Given the description of an element on the screen output the (x, y) to click on. 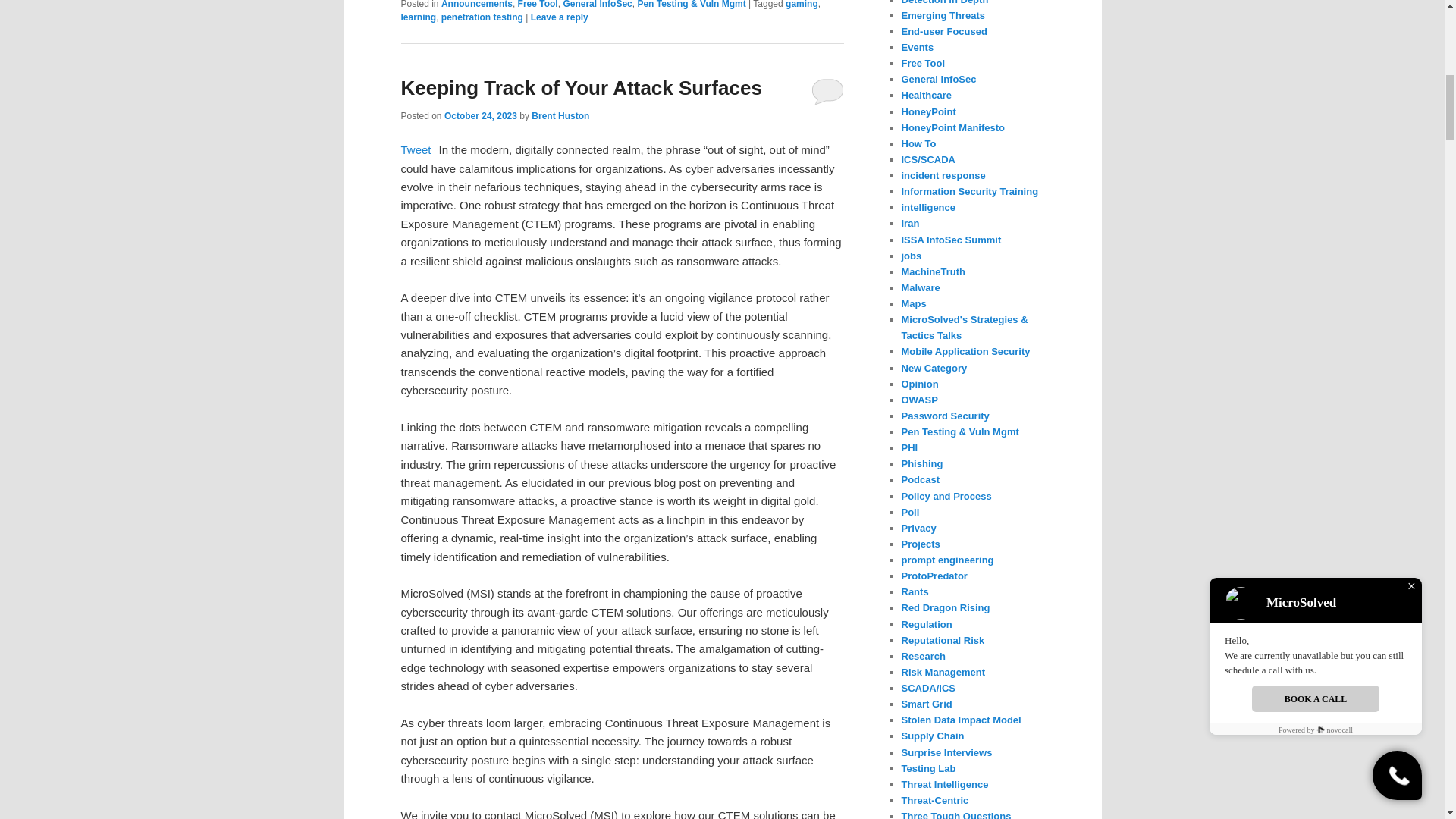
penetration testing (481, 17)
October 24, 2023 (480, 115)
Tweet (415, 149)
Brent Huston (560, 115)
General InfoSec (596, 4)
Leave a reply (559, 17)
gaming (802, 4)
2:42 pm (480, 115)
Announcements (476, 4)
learning (417, 17)
View all posts by Brent Huston (560, 115)
Keeping Track of Your Attack Surfaces (580, 87)
Free Tool (537, 4)
